Given the description of an element on the screen output the (x, y) to click on. 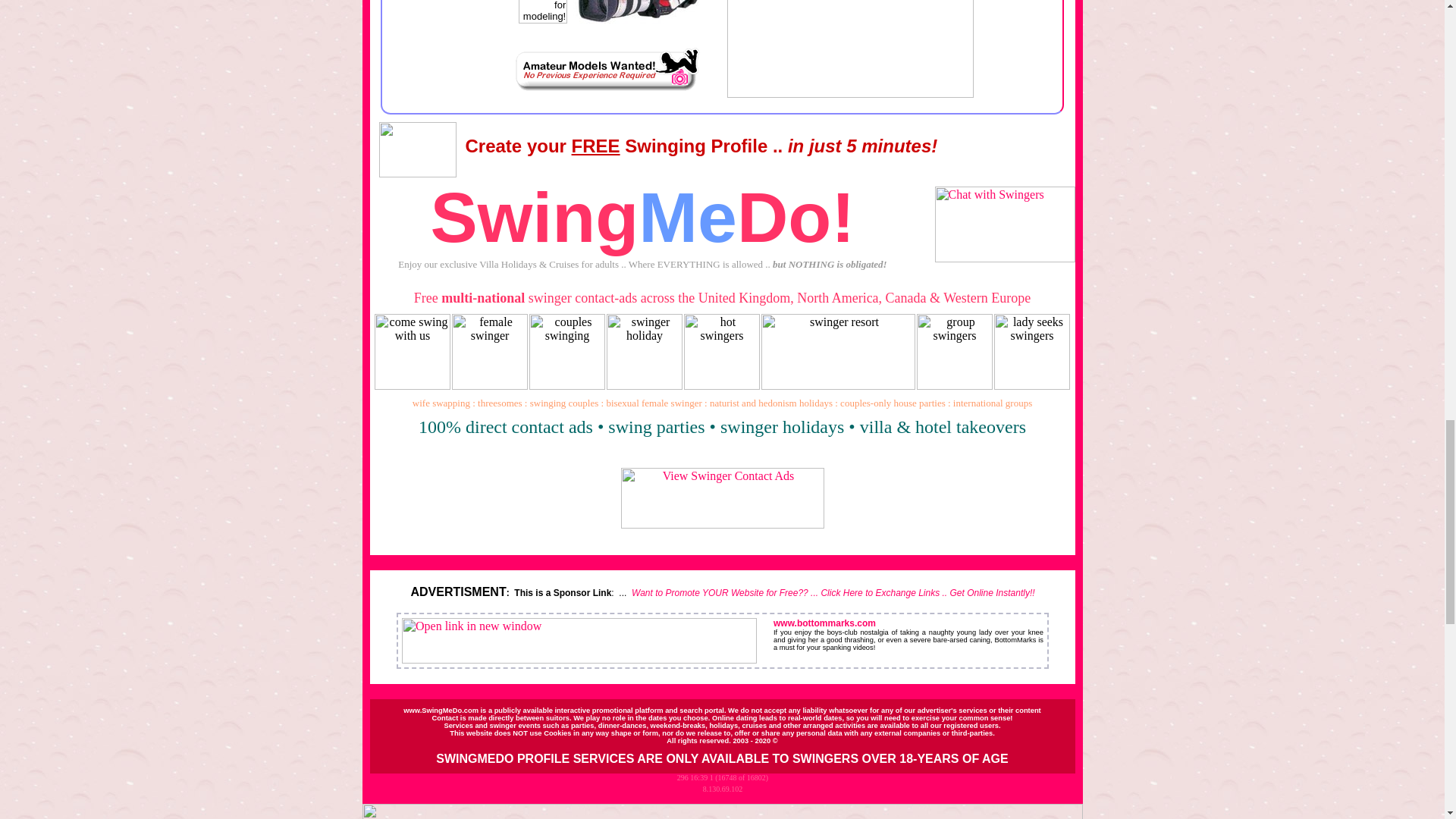
Live Swinger Chat (1004, 224)
Show Swinger Contact Ads (722, 497)
Models Wanted (633, 11)
